Given the description of an element on the screen output the (x, y) to click on. 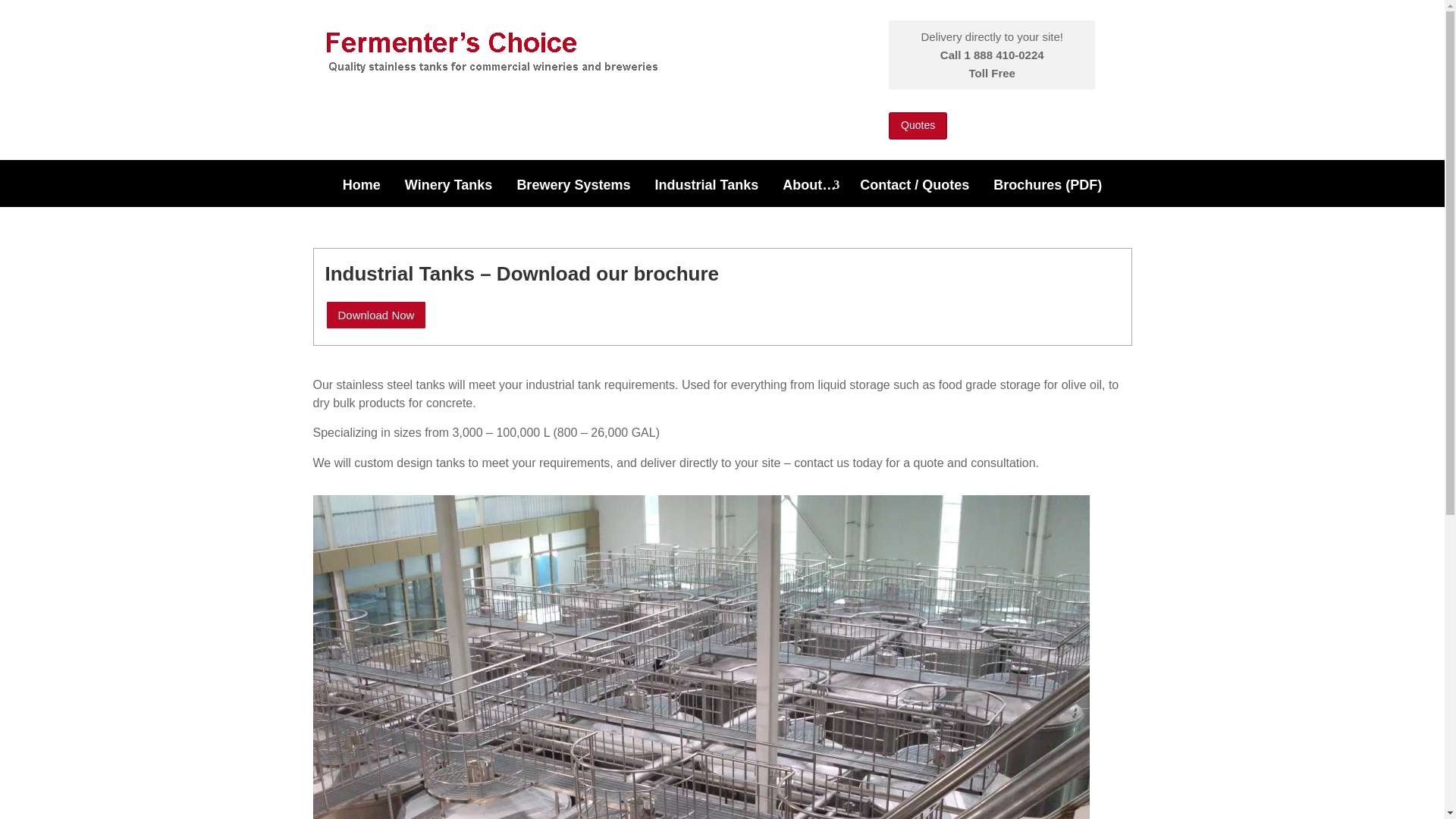
Industrial Tanks (705, 196)
Brewery Systems (572, 196)
Home (361, 196)
Download Now (375, 315)
FermentersChoice-logo-1 (500, 49)
Quotes (917, 125)
Winery Tanks (448, 196)
